Given the description of an element on the screen output the (x, y) to click on. 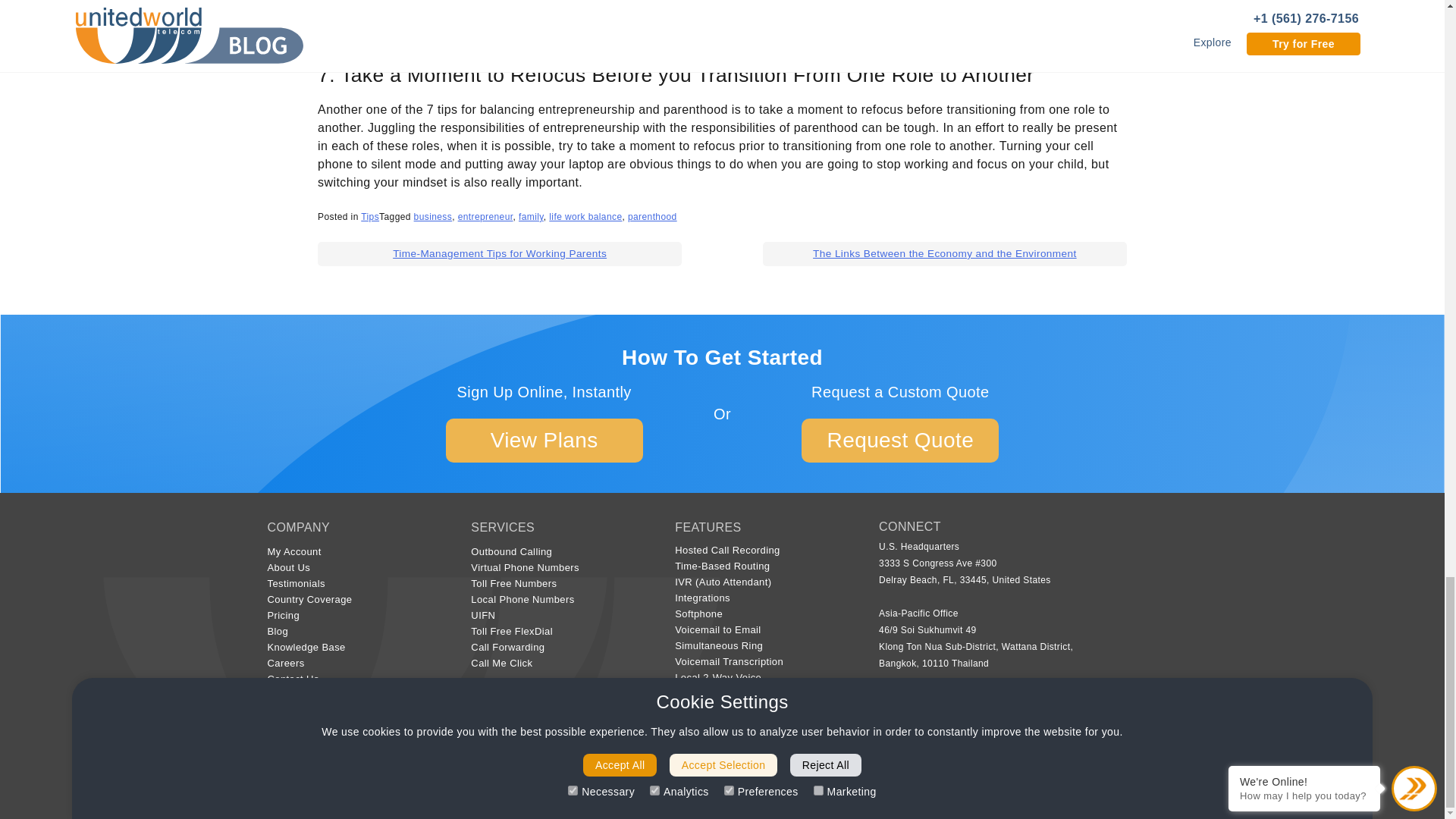
business (432, 216)
Tips (369, 216)
entrepreneur (485, 216)
